Given the description of an element on the screen output the (x, y) to click on. 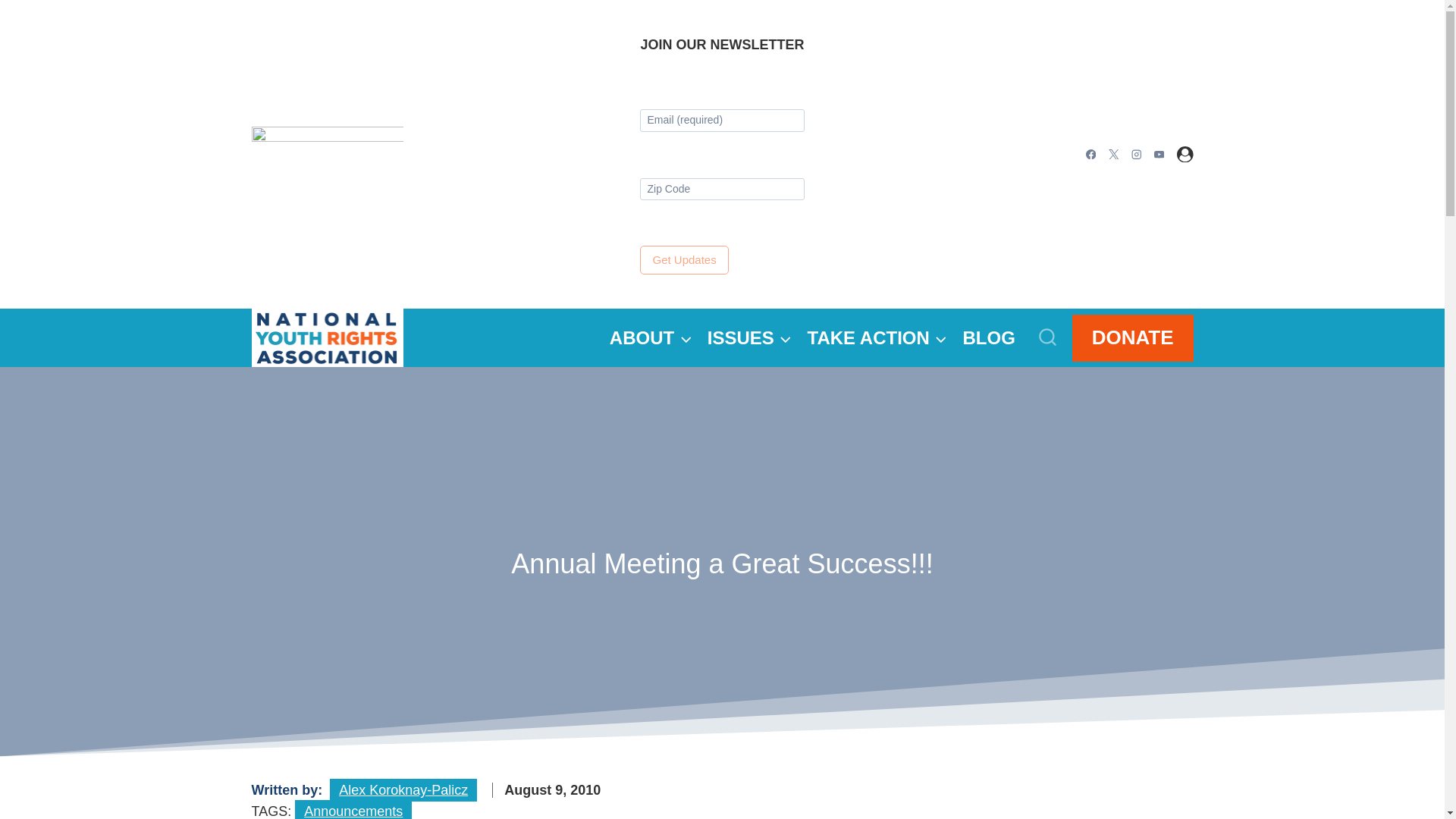
Alex Koroknay-Palicz (403, 789)
BLOG (989, 337)
DONATE (1132, 337)
Announcements (353, 809)
ISSUES (749, 337)
Get Updates (684, 259)
ABOUT (651, 337)
TAKE ACTION (877, 337)
